Given the description of an element on the screen output the (x, y) to click on. 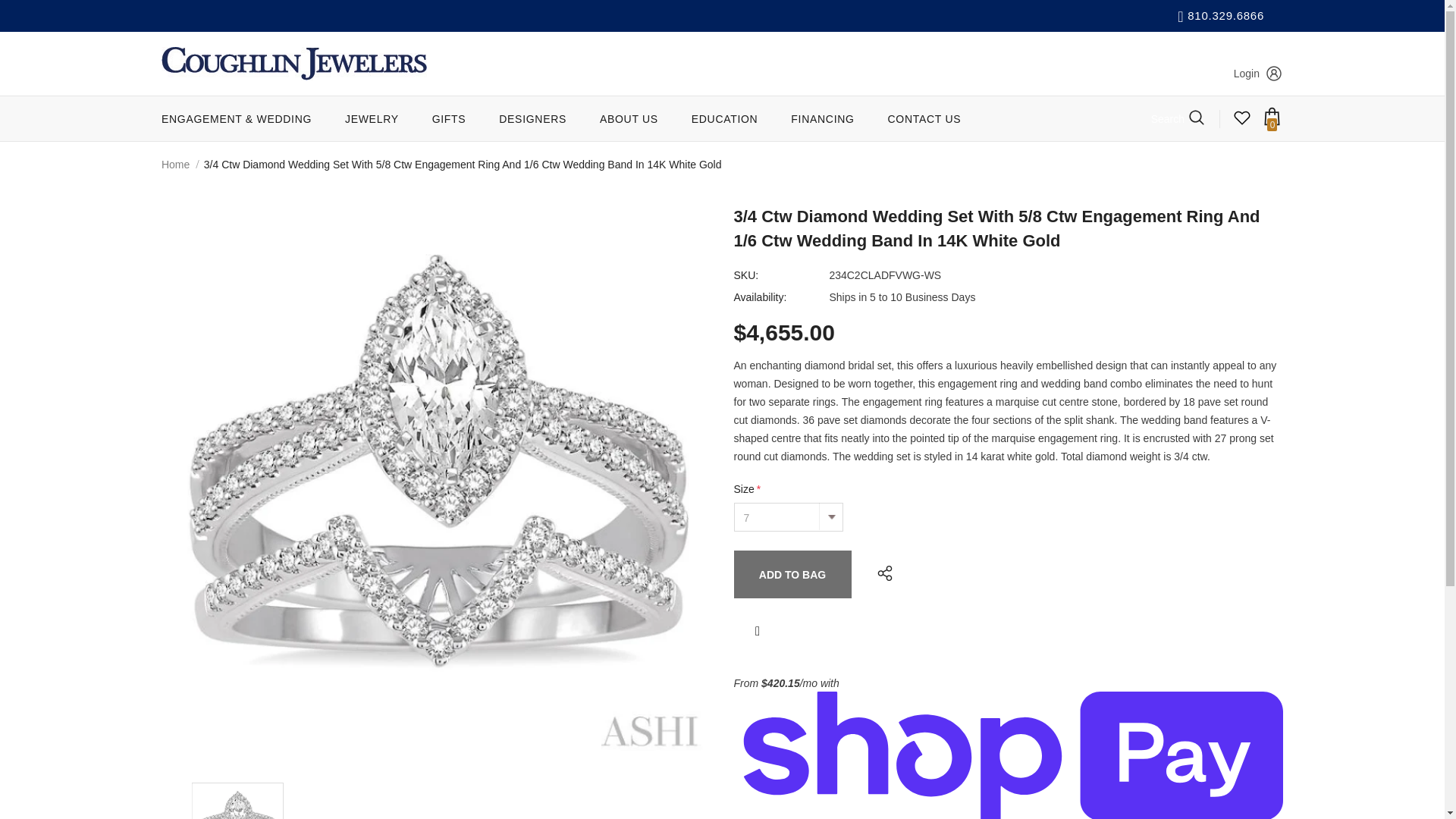
Wish list (1241, 122)
FINANCING (821, 118)
Search (1177, 118)
Add to Bag (792, 574)
Coughlin Jewelers (293, 63)
Cart (1271, 123)
JEWELRY (371, 118)
ABOUT US (628, 118)
810.329.6866 (1220, 15)
Search Icon (1177, 118)
